Given the description of an element on the screen output the (x, y) to click on. 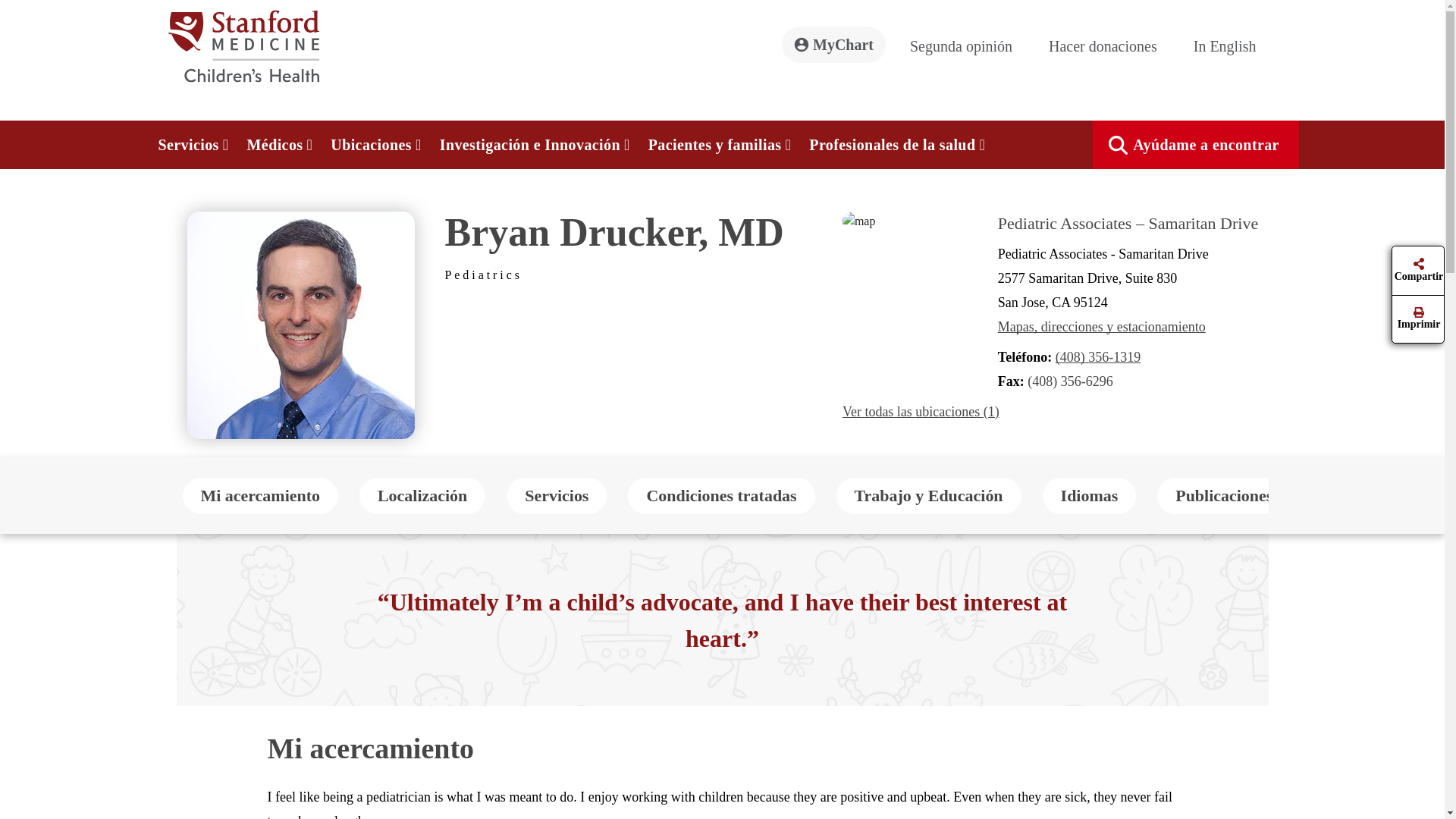
In English (1230, 46)
Hacer donaciones (1108, 46)
MyChart (833, 44)
